Given the description of an element on the screen output the (x, y) to click on. 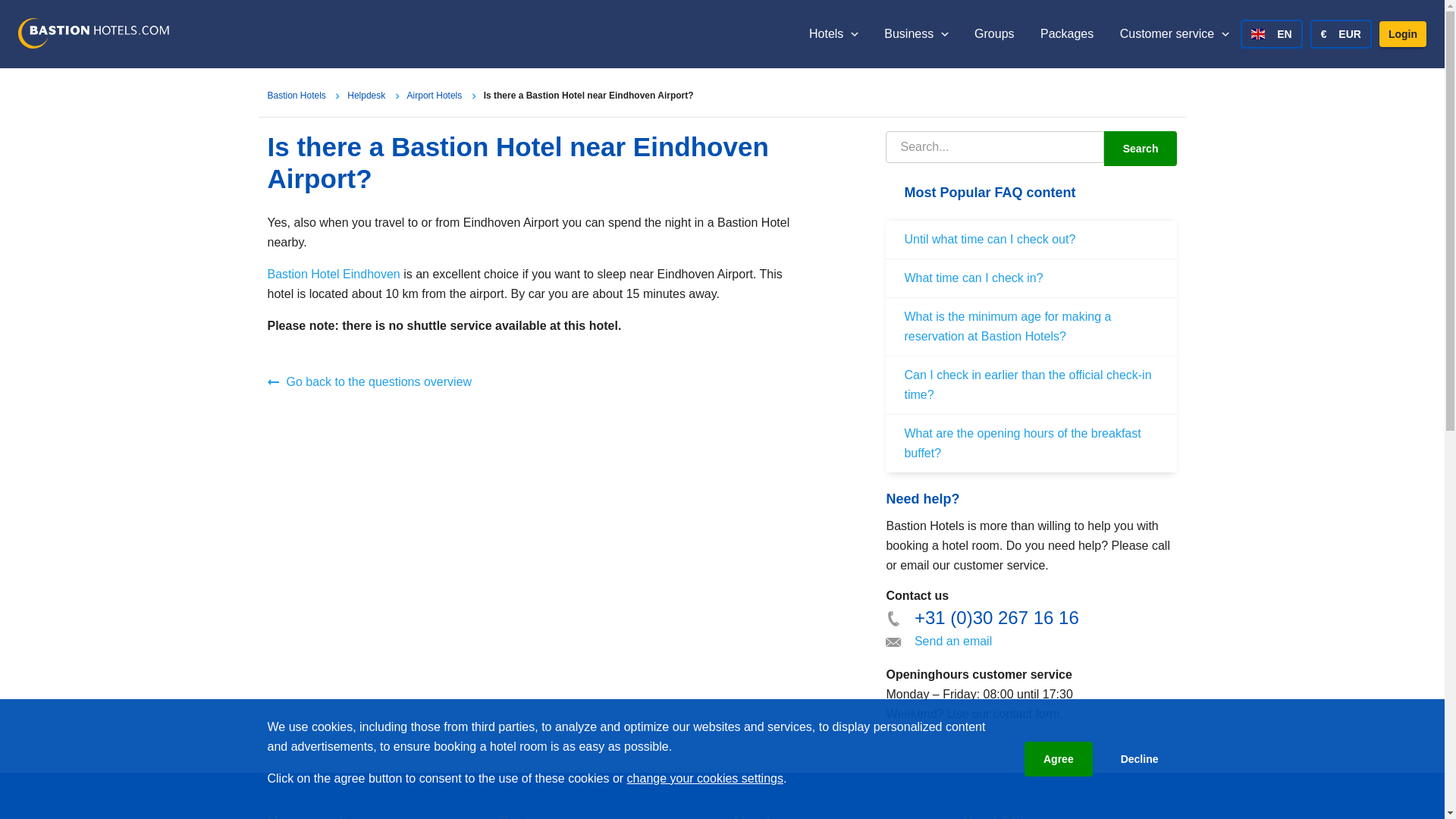
Hotels (834, 33)
Customer service (1173, 33)
Groups (993, 33)
EN (1271, 33)
Business (915, 33)
Packages (1067, 33)
Search (1140, 148)
